Given the description of an element on the screen output the (x, y) to click on. 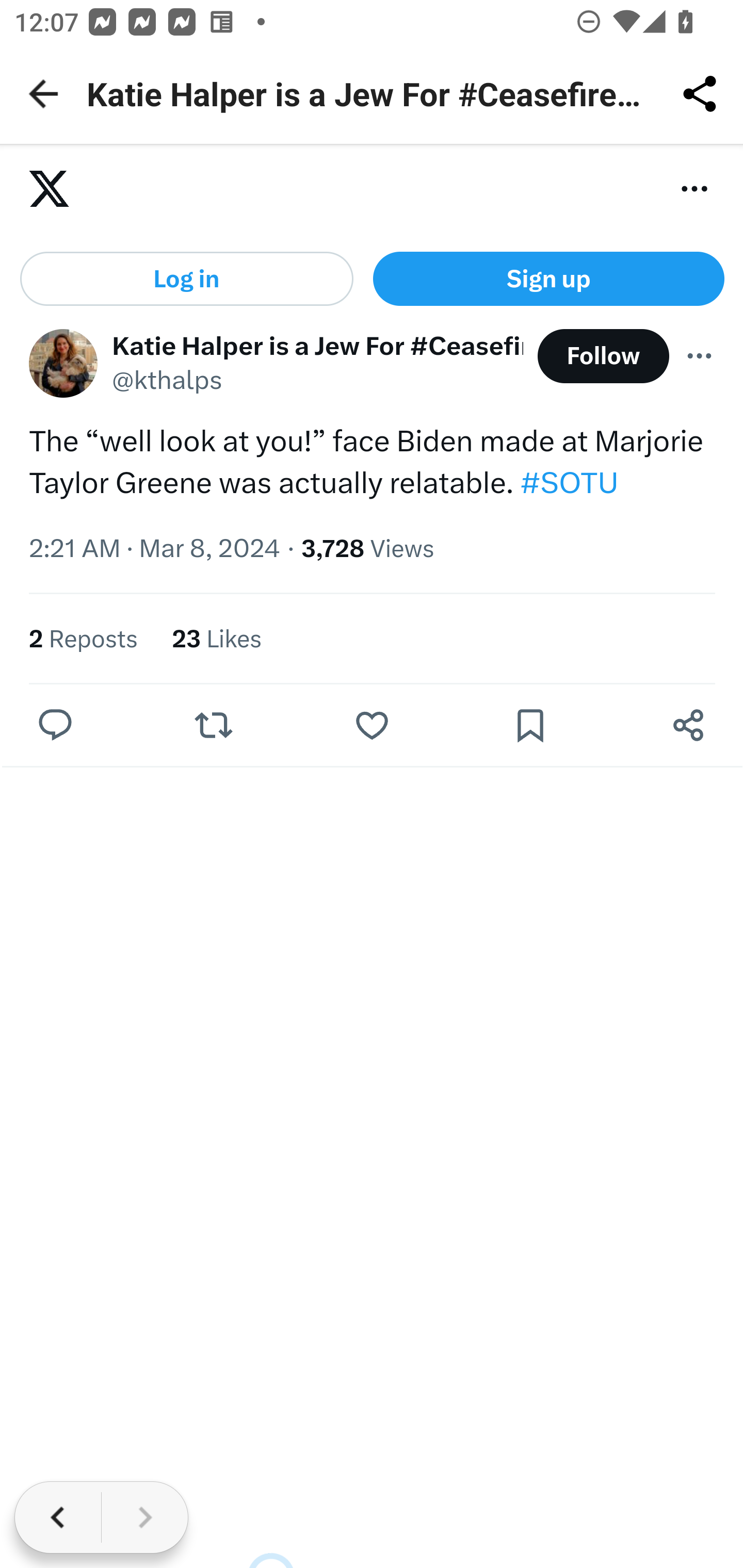
Katie Halper is a Jew For #CeasefireNow (317, 347)
Follow @kthalps (602, 357)
More (699, 356)
@kthalps (167, 383)
#SOTU (569, 484)
2:21 AM · Mar 8, 2024 (154, 548)
2 Reposts 2   Reposts (83, 638)
23 Likes 23   Likes (217, 638)
Reply (55, 727)
Repost (212, 727)
Like (371, 727)
0 Bookmarks. Bookmark (534, 727)
Share post (688, 727)
